Given the description of an element on the screen output the (x, y) to click on. 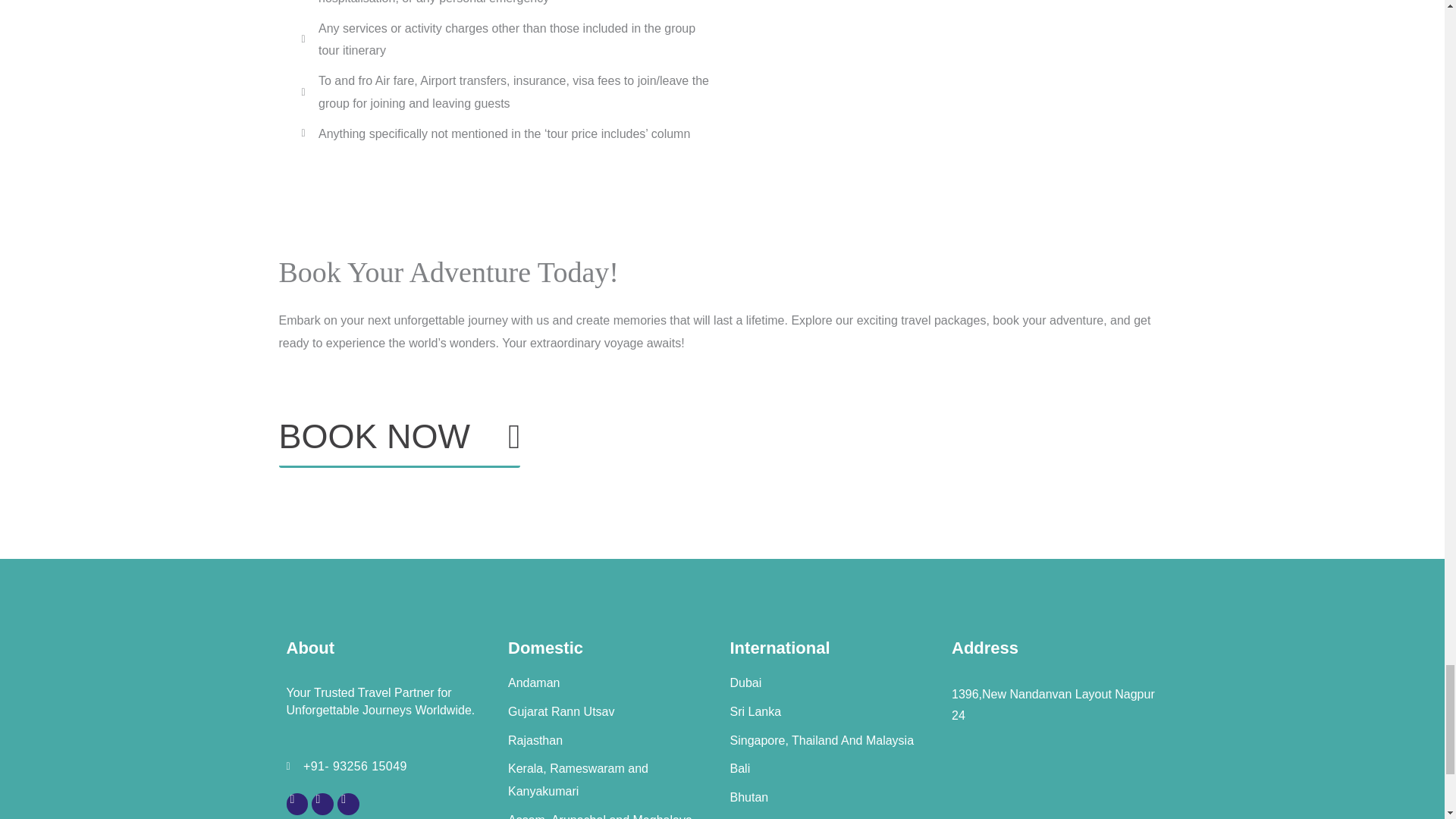
Instagram (297, 803)
BOOK NOW (400, 443)
